Given the description of an element on the screen output the (x, y) to click on. 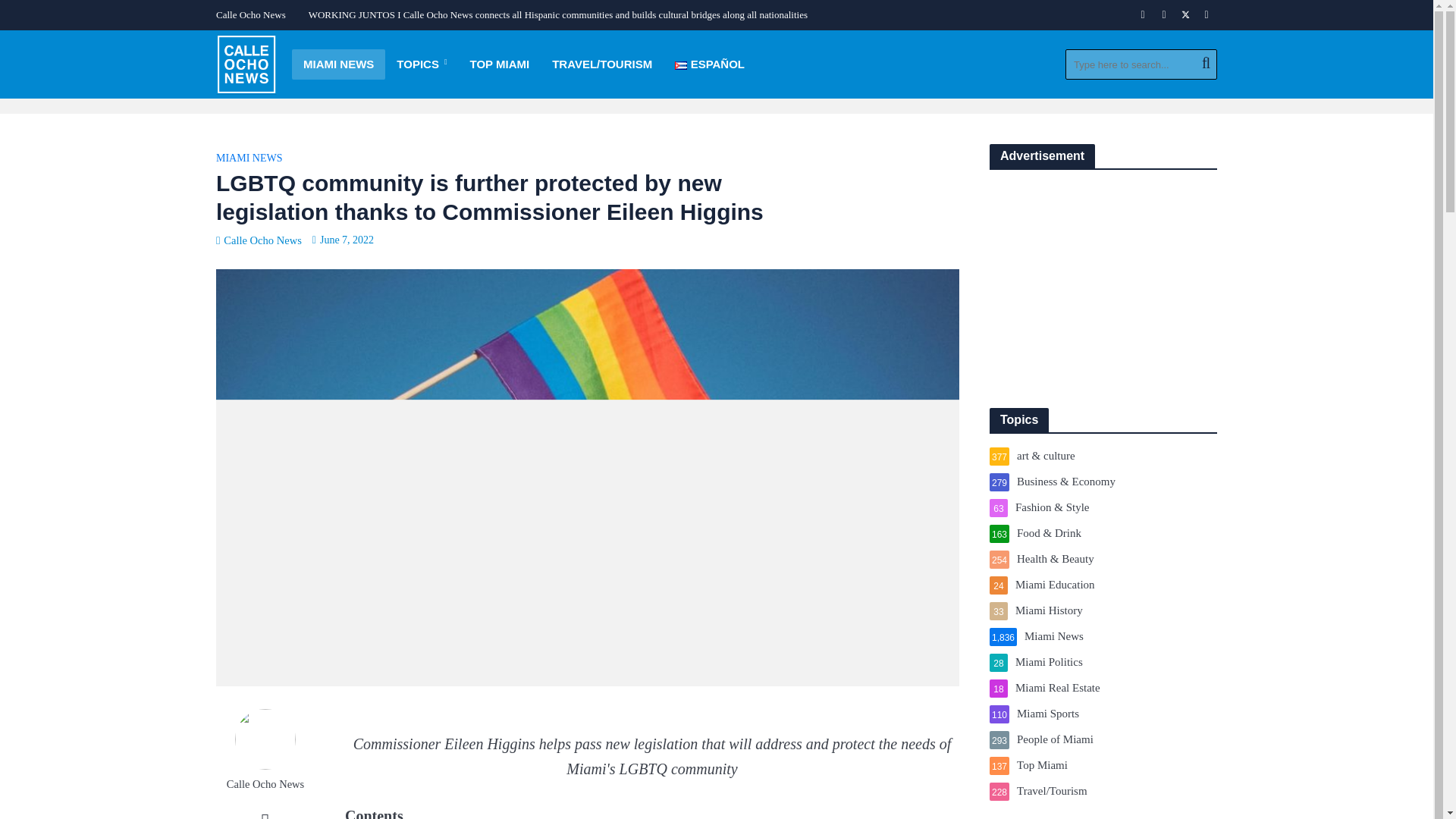
Instagram (1163, 14)
TOPICS (421, 64)
MIAMI NEWS (338, 64)
Twitter (1184, 14)
Calle Ocho News (254, 15)
TOP MIAMI (499, 64)
Youtube (1206, 14)
Facebook (1142, 14)
